Given the description of an element on the screen output the (x, y) to click on. 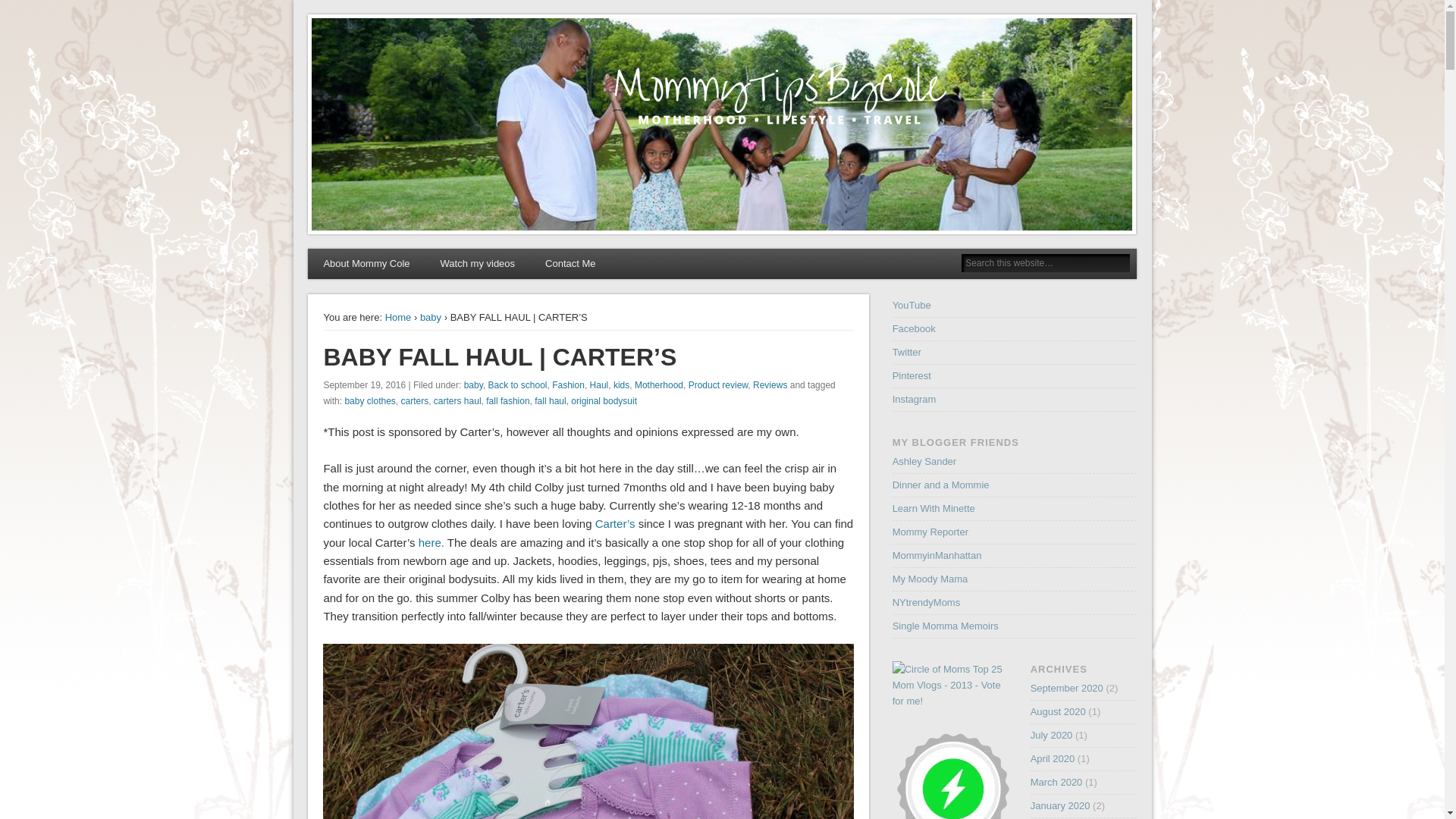
Instagram (914, 398)
Fashion (568, 385)
Circle of Moms Top 25 Mom Vlogs - 2013 - Vote for me! (952, 684)
Back to school (517, 385)
Contact Me (569, 263)
original bodysuit (603, 400)
MommyTipsbyCole (404, 37)
Dinner and a Mommie (941, 484)
carters haul (457, 400)
Watch my videos (478, 263)
Circle of Moms Top 25 Mom Vlogs - 2013 - Vote for me! (952, 700)
baby (473, 385)
Product review (718, 385)
About Mommy Cole (366, 263)
fall haul (550, 400)
